Given the description of an element on the screen output the (x, y) to click on. 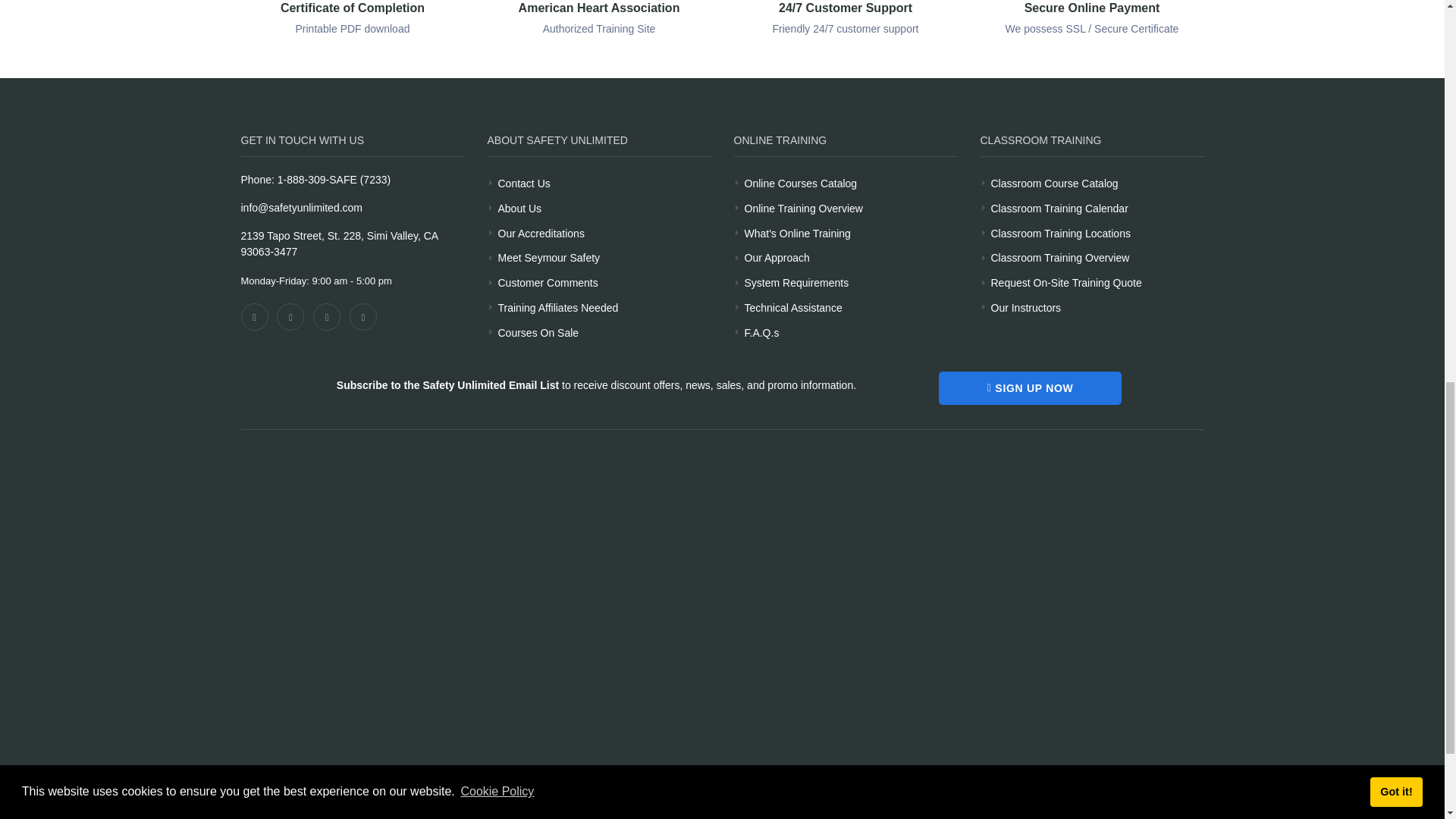
Contact Us (523, 180)
Training Affiliates Needed (557, 305)
What's Online Training (800, 180)
Customer Comments (546, 281)
YouTube (326, 316)
Our Accreditations (540, 230)
Seymour Safety - Virtual Safety Professional (548, 256)
Online Training Overview (803, 206)
About Us (519, 206)
Twitter (290, 316)
LinkedIn (363, 316)
Facebook (254, 316)
